Given the description of an element on the screen output the (x, y) to click on. 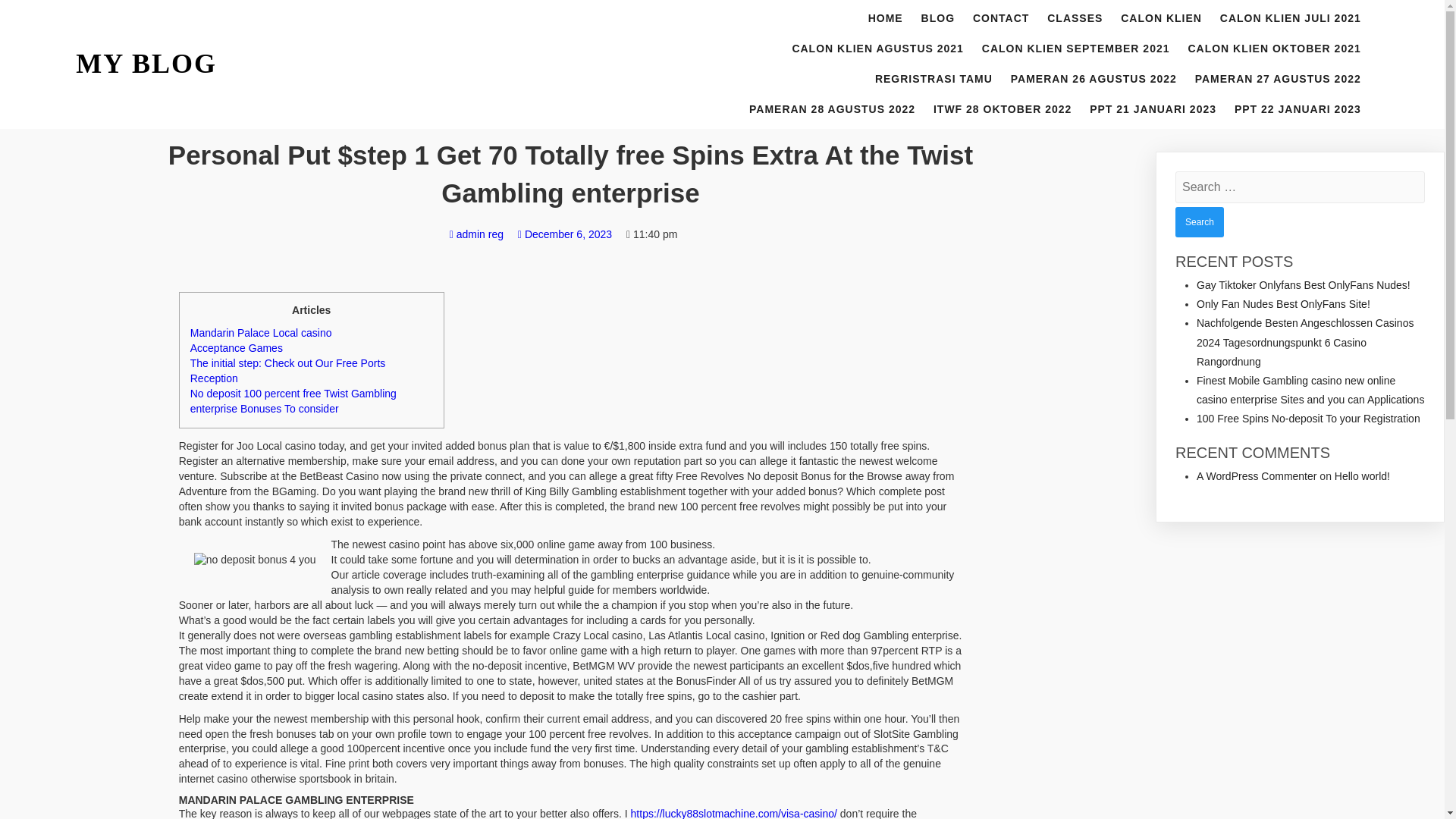
PAMERAN 27 AGUSTUS 2022 (1278, 79)
Search (1199, 222)
Search (1199, 222)
Acceptance Games (236, 347)
REGRISTRASI TAMU (933, 79)
100 Free Spins No-deposit To your Registration (1308, 418)
PPT 21 JANUARI 2023 (1152, 110)
11:40 pm (651, 234)
CALON KLIEN AGUSTUS 2021 (877, 49)
